Given the description of an element on the screen output the (x, y) to click on. 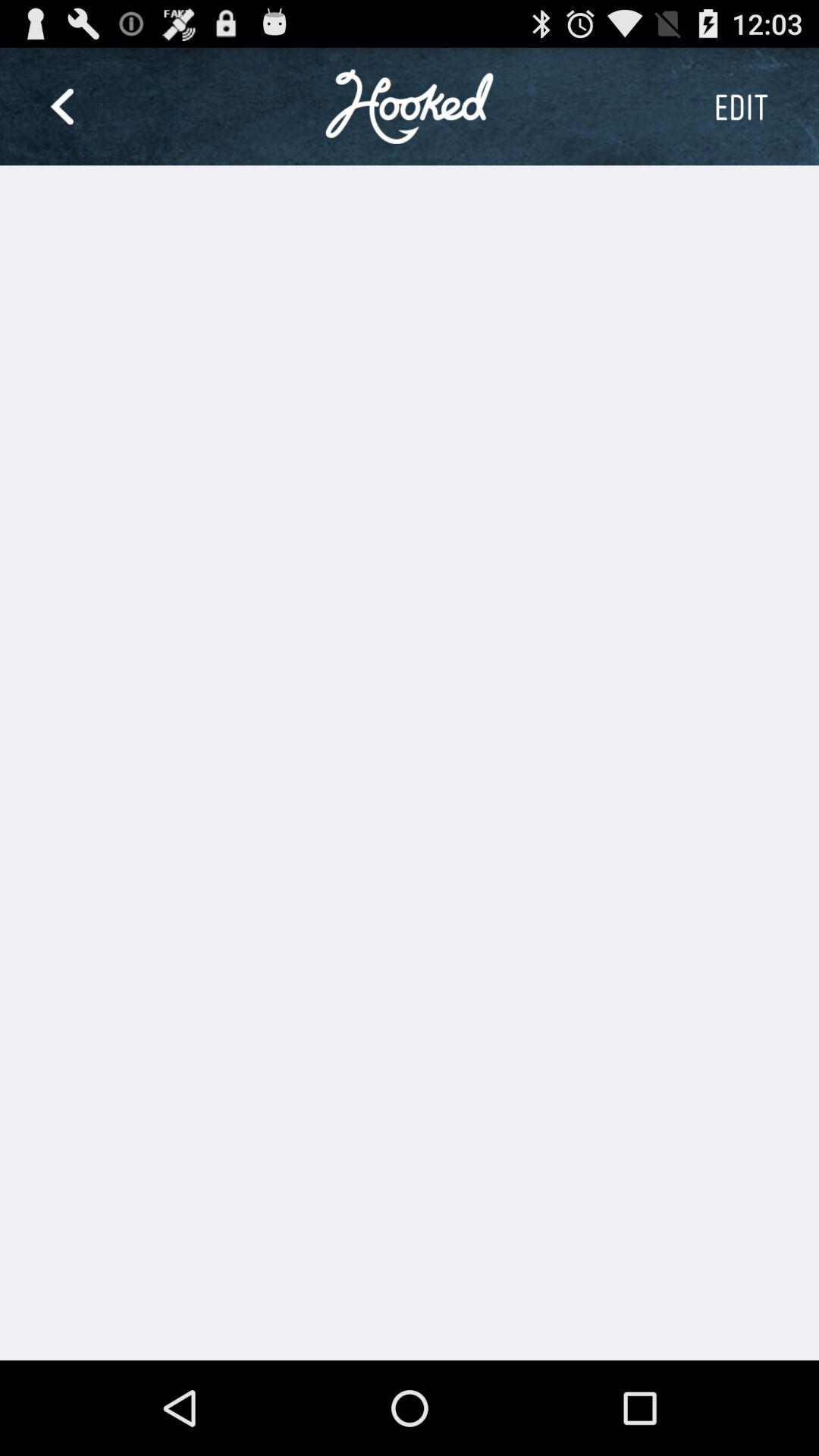
launch the button at the top right corner (740, 106)
